Given the description of an element on the screen output the (x, y) to click on. 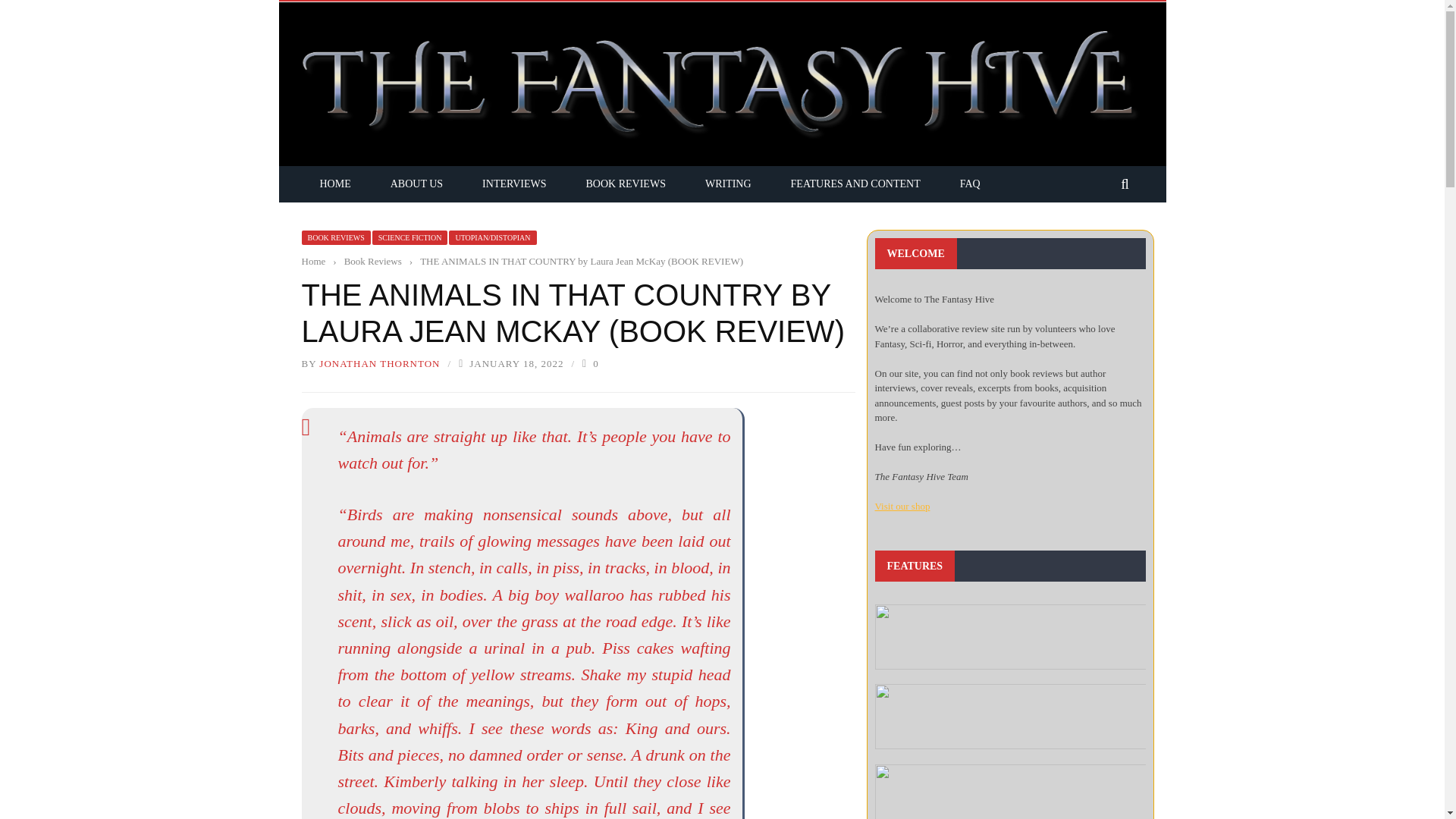
BOOK REVIEWS (625, 183)
INTERVIEWS (514, 183)
ABOUT US (416, 183)
HOME (335, 183)
